Given the description of an element on the screen output the (x, y) to click on. 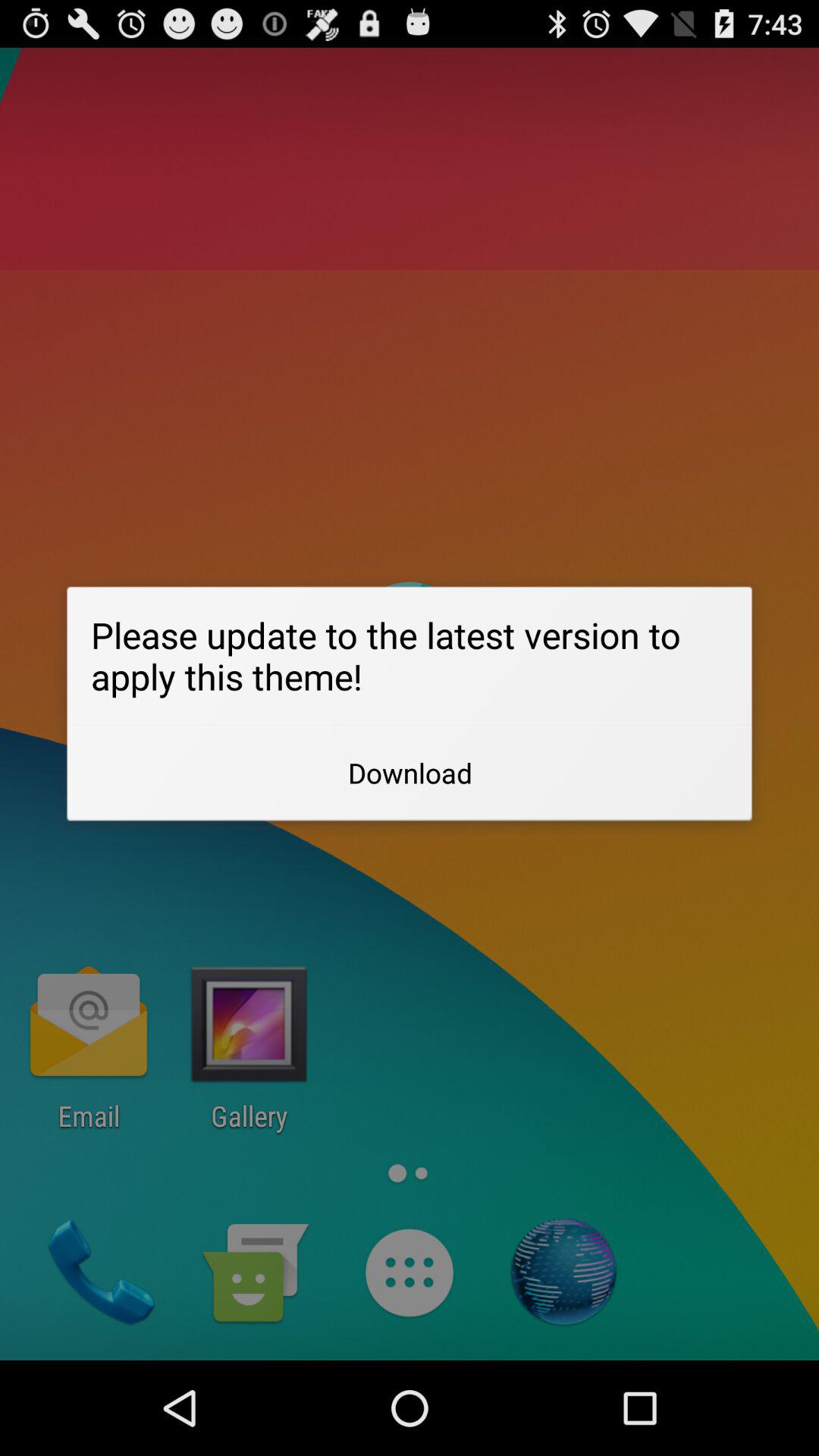
turn off app below please update to icon (409, 772)
